Given the description of an element on the screen output the (x, y) to click on. 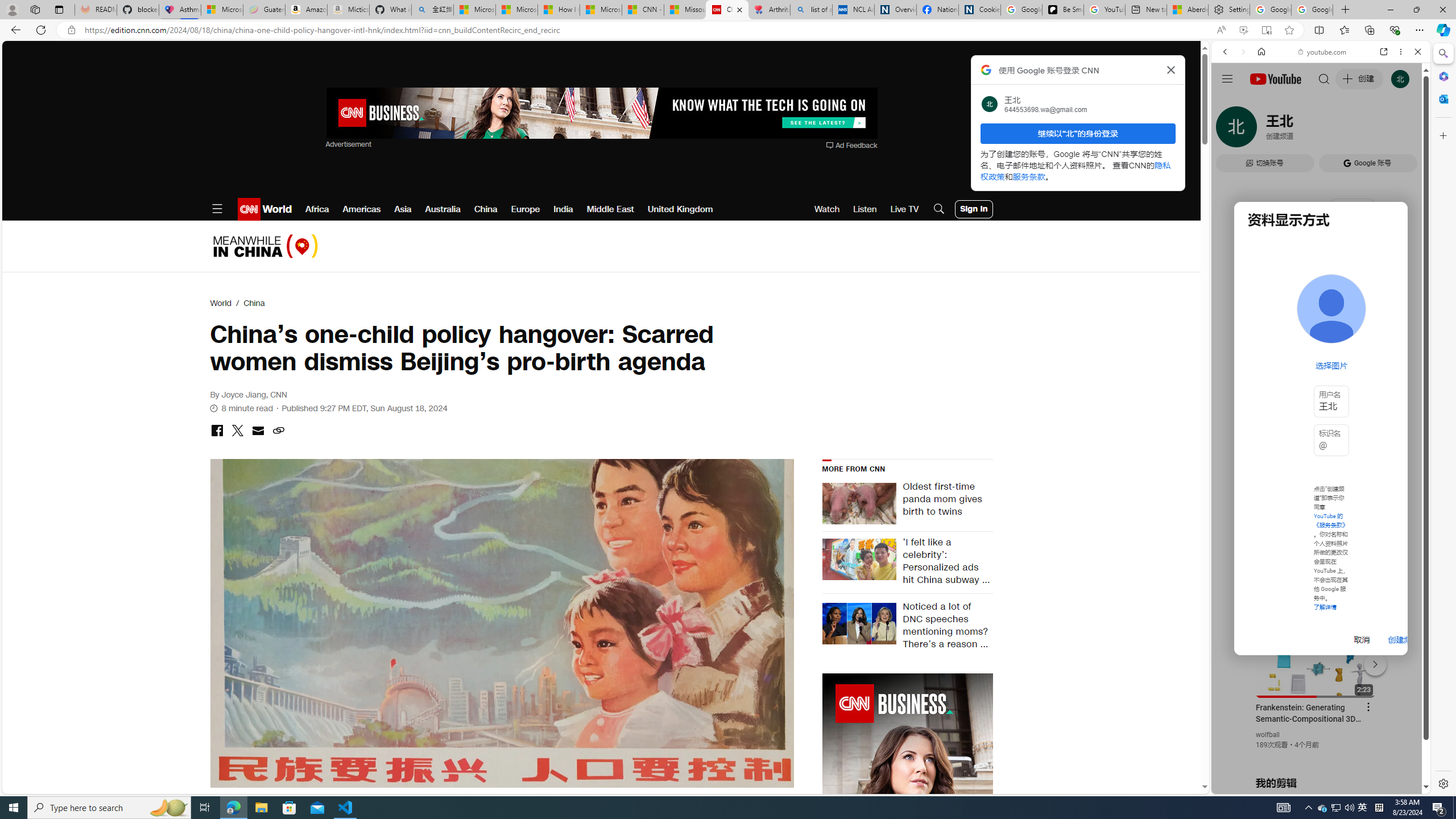
Meanwhile in China (264, 245)
Class: dict_pnIcon rms_img (1312, 784)
CNN - MSN (642, 9)
Trailer #2 [HD] (1320, 336)
Web scope (1230, 102)
Americas (361, 209)
#you (1315, 659)
